Given the description of an element on the screen output the (x, y) to click on. 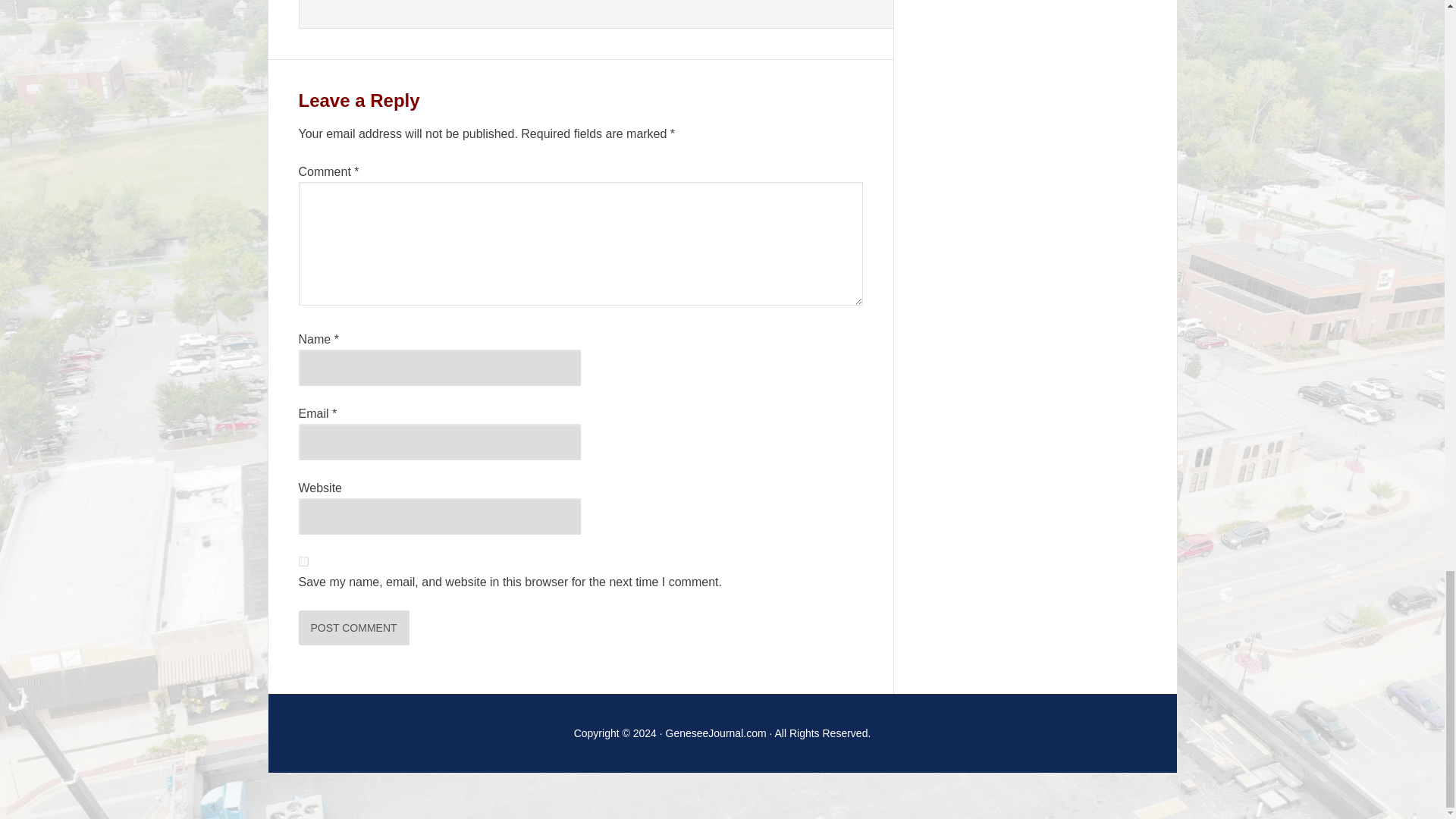
yes (303, 561)
Post Comment (353, 627)
Post Comment (353, 627)
